Given the description of an element on the screen output the (x, y) to click on. 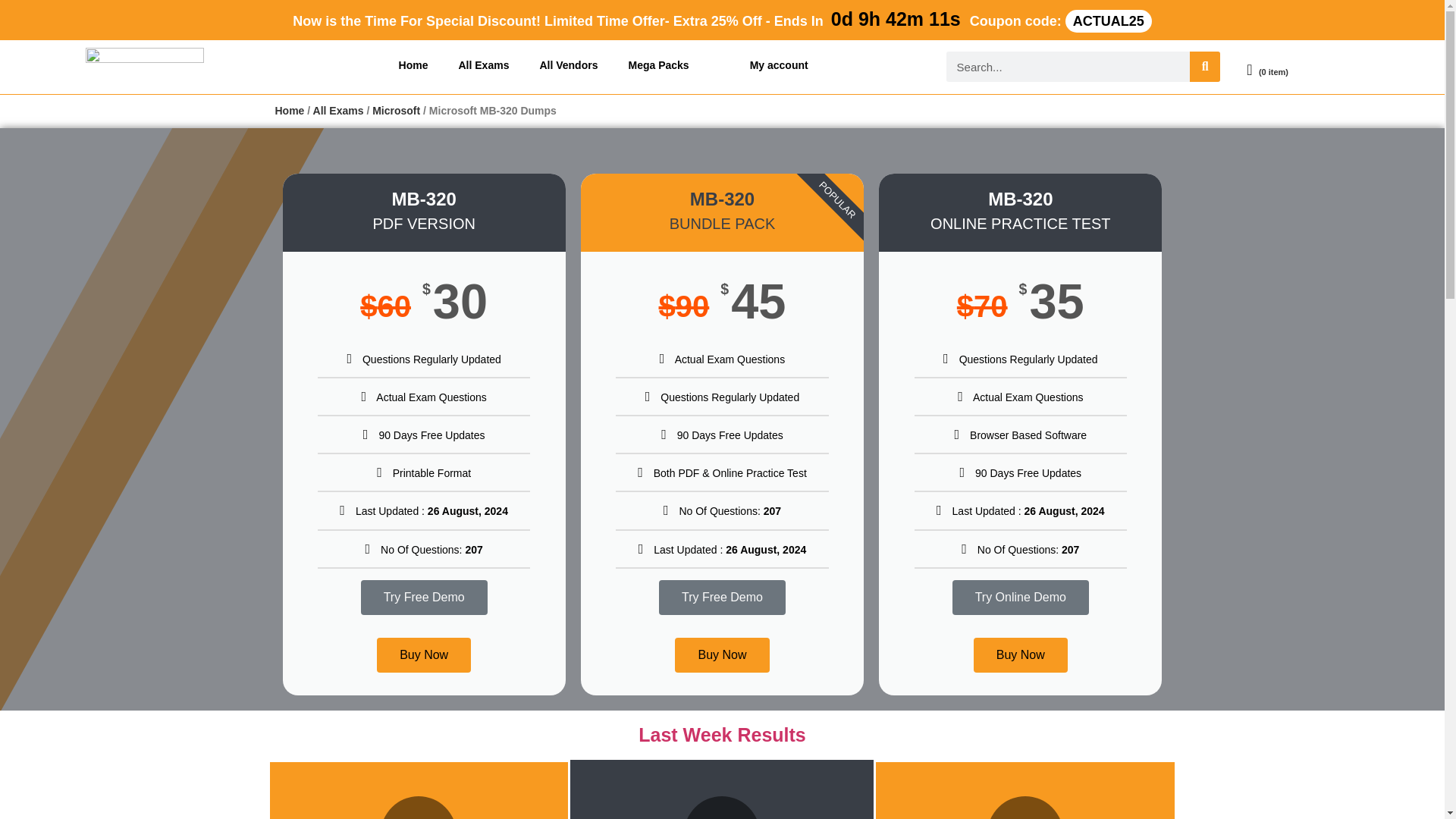
Search (1067, 66)
Search (1204, 66)
View your shopping cart (1261, 66)
All Exams (483, 64)
My account (779, 64)
Home (414, 64)
All Vendors (568, 64)
Mega Packs (657, 64)
